Given the description of an element on the screen output the (x, y) to click on. 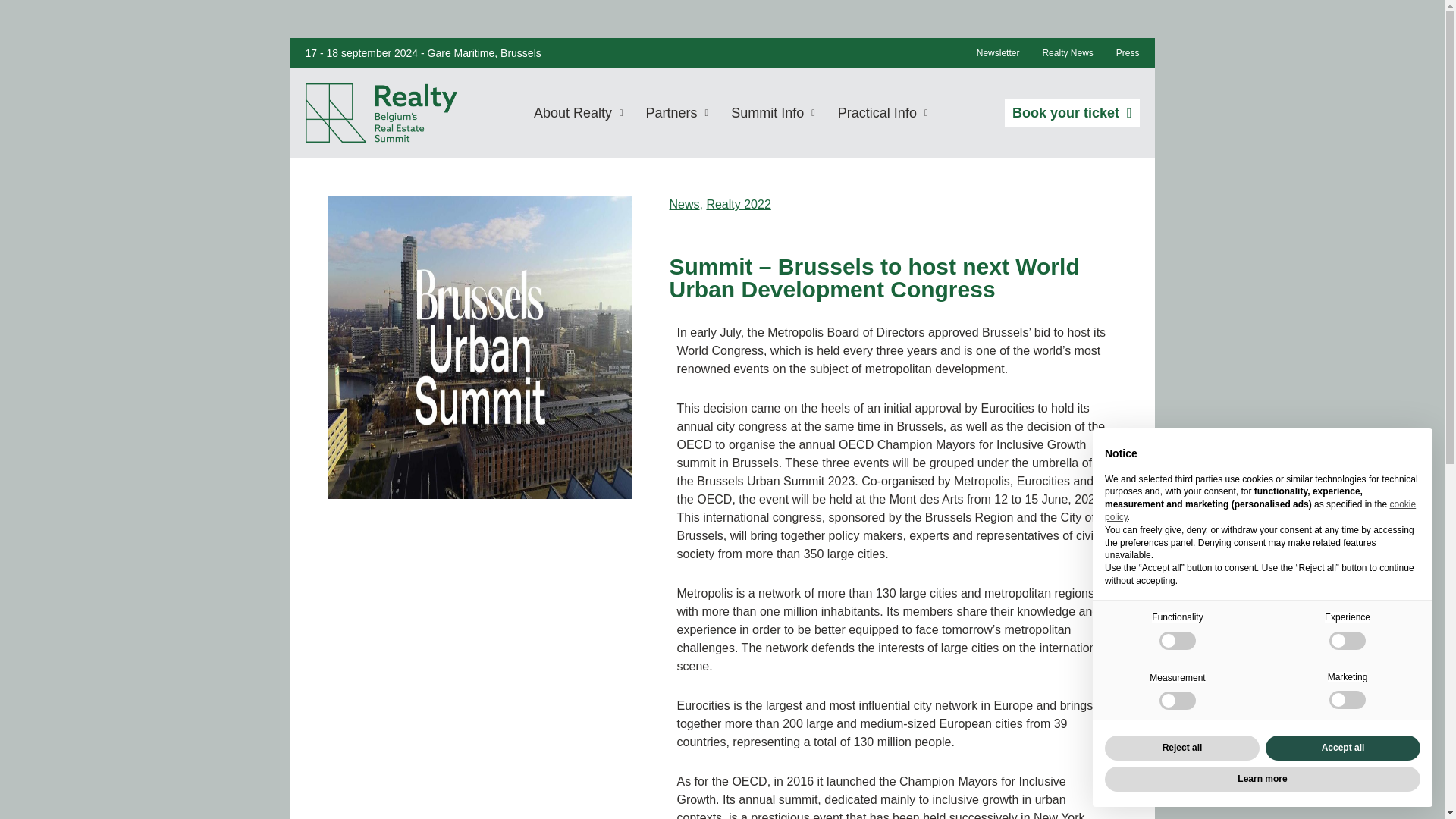
Practical Info (883, 112)
About Realty (578, 112)
Realty News (1066, 52)
Partners (677, 112)
Summit Info (772, 112)
false (1347, 640)
false (1347, 700)
Newsletter (997, 52)
Press (1128, 52)
false (1176, 700)
false (1176, 640)
